Given the description of an element on the screen output the (x, y) to click on. 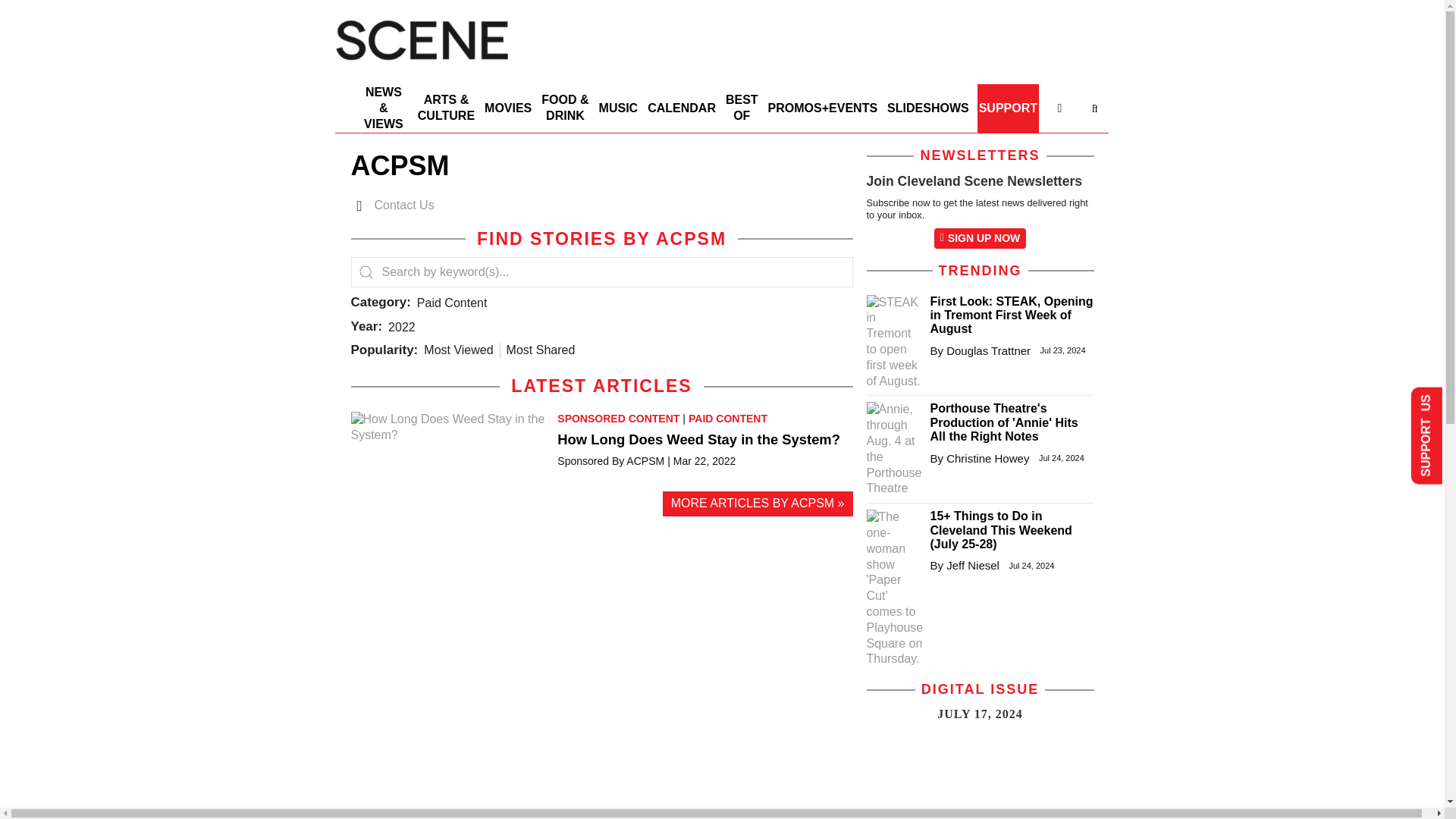
MOVIES (507, 108)
MUSIC (618, 108)
HOME (343, 93)
BEST OF (741, 108)
CALENDAR (681, 108)
Cleveland Scene (421, 63)
